Given the description of an element on the screen output the (x, y) to click on. 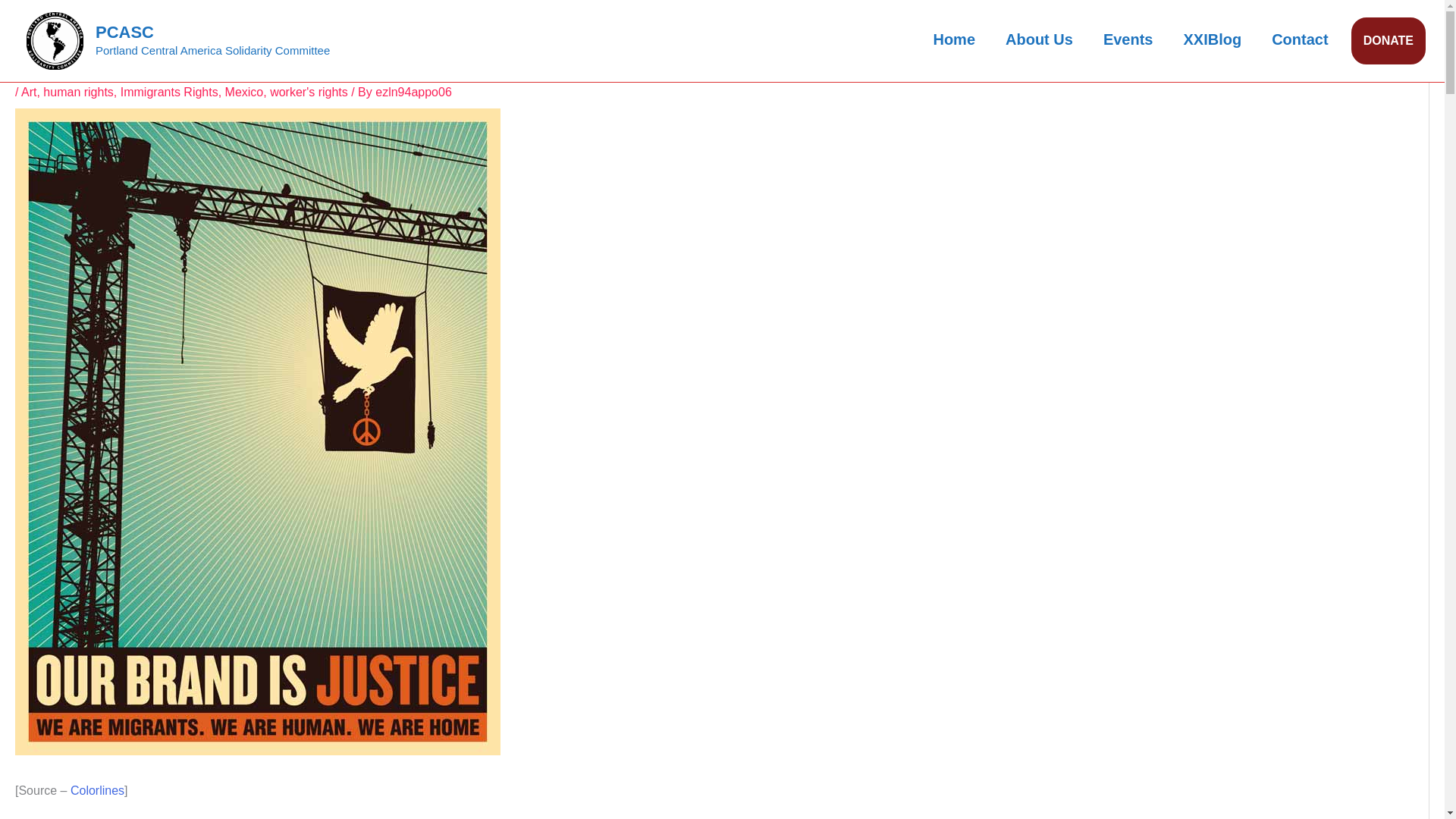
DONATE (1388, 40)
PCASC (125, 31)
human rights (78, 91)
Colorlines (96, 789)
worker's rights (308, 91)
View all posts by ezln94appo06 (413, 91)
Immigrants Rights (169, 91)
Art (28, 91)
ezln94appo06 (413, 91)
Mexico (244, 91)
